Given the description of an element on the screen output the (x, y) to click on. 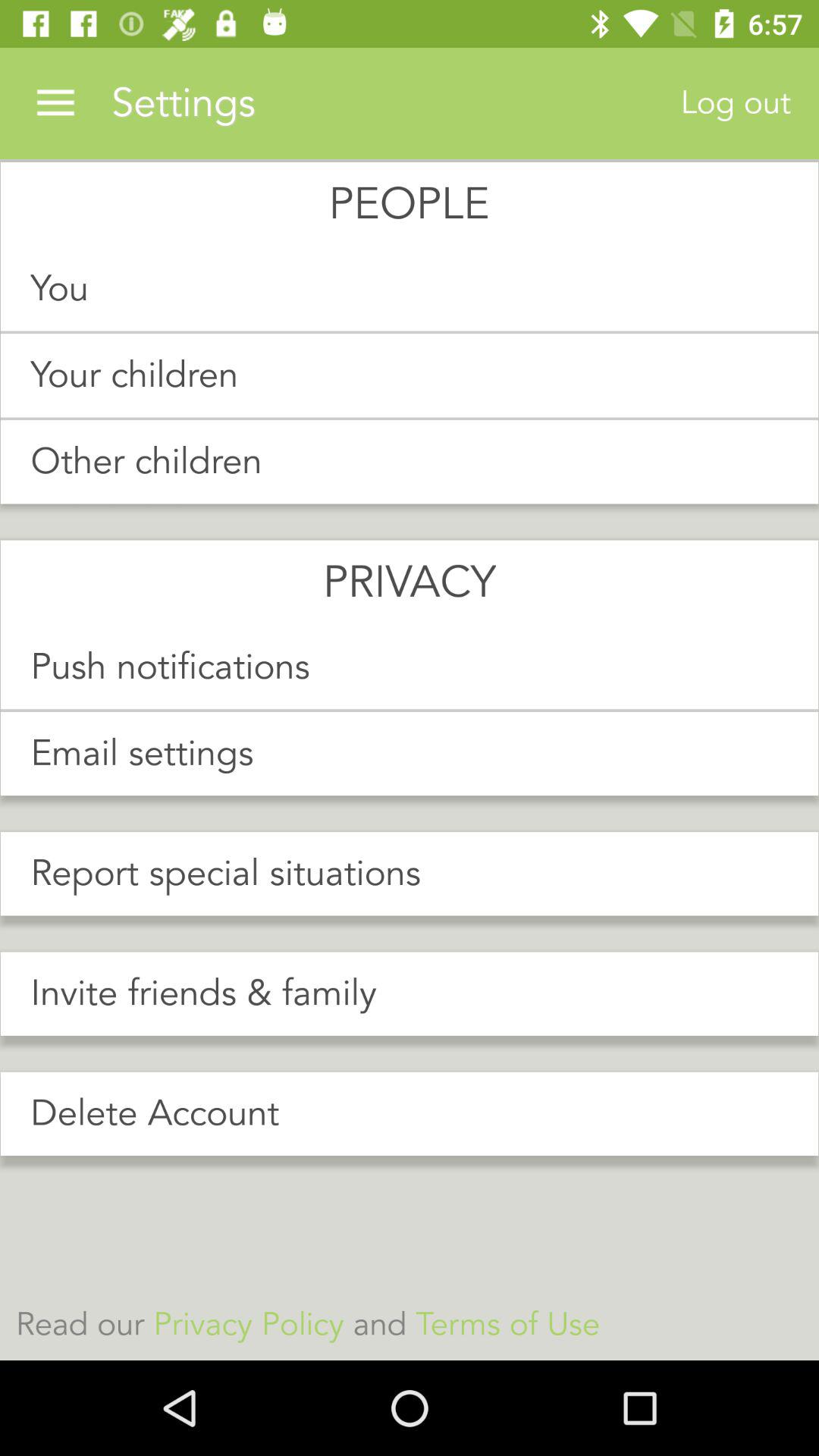
open the icon below the privacy item (409, 667)
